Given the description of an element on the screen output the (x, y) to click on. 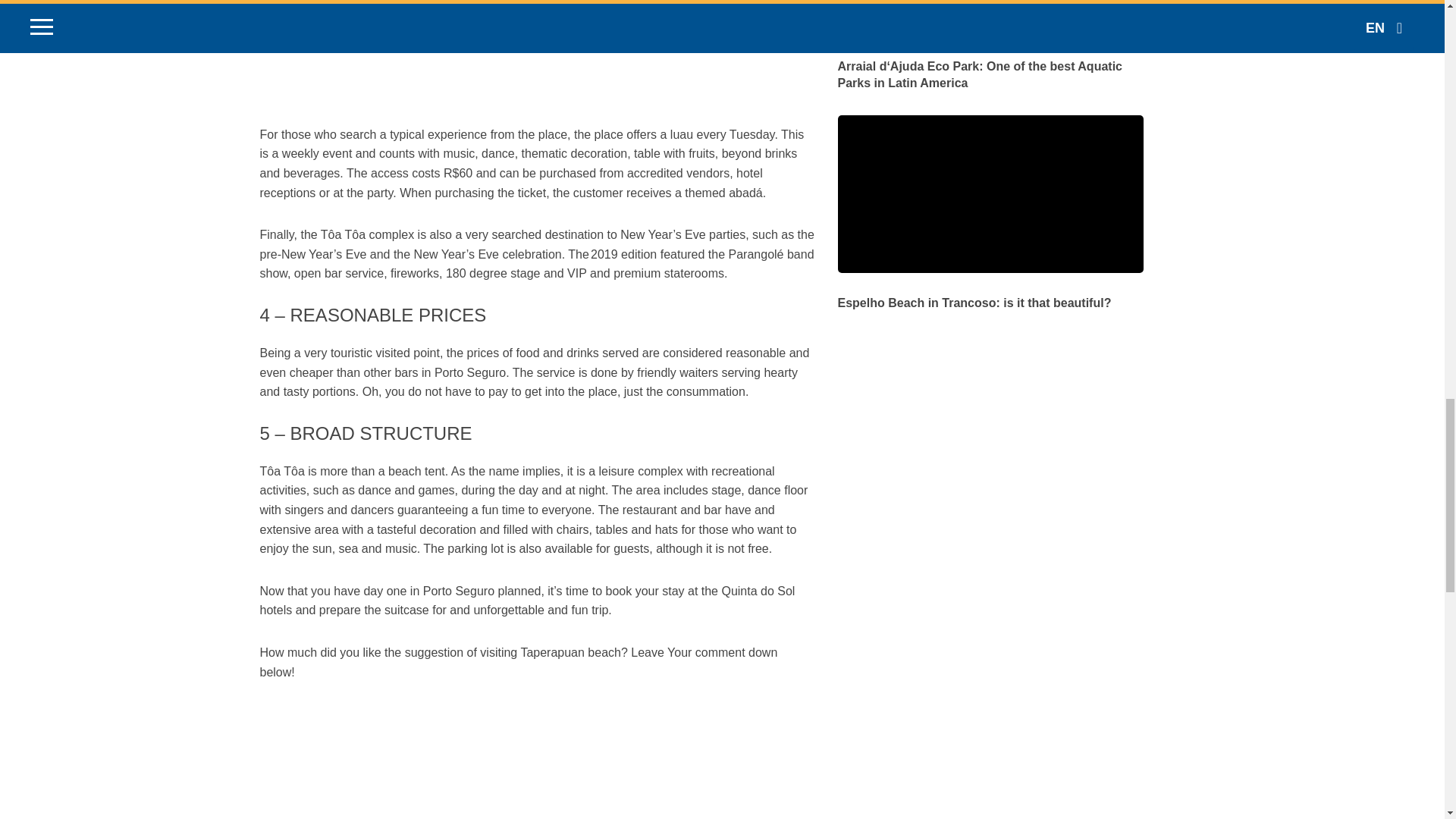
Saiba mais (989, 293)
Saiba mais (989, 64)
Espelho Beach in Trancoso: is it that beautiful? (989, 293)
